Given the description of an element on the screen output the (x, y) to click on. 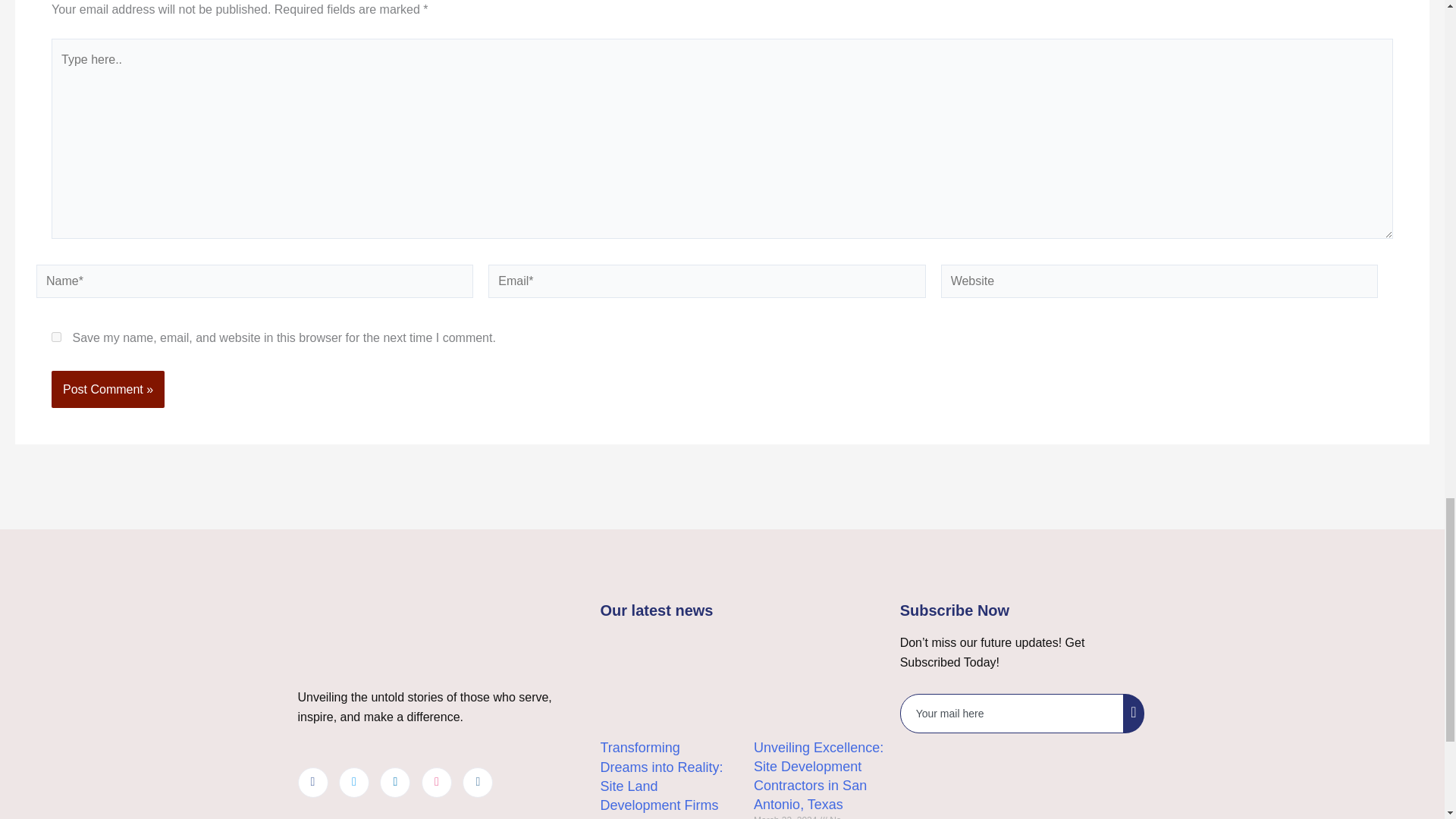
yes (55, 337)
